Given the description of an element on the screen output the (x, y) to click on. 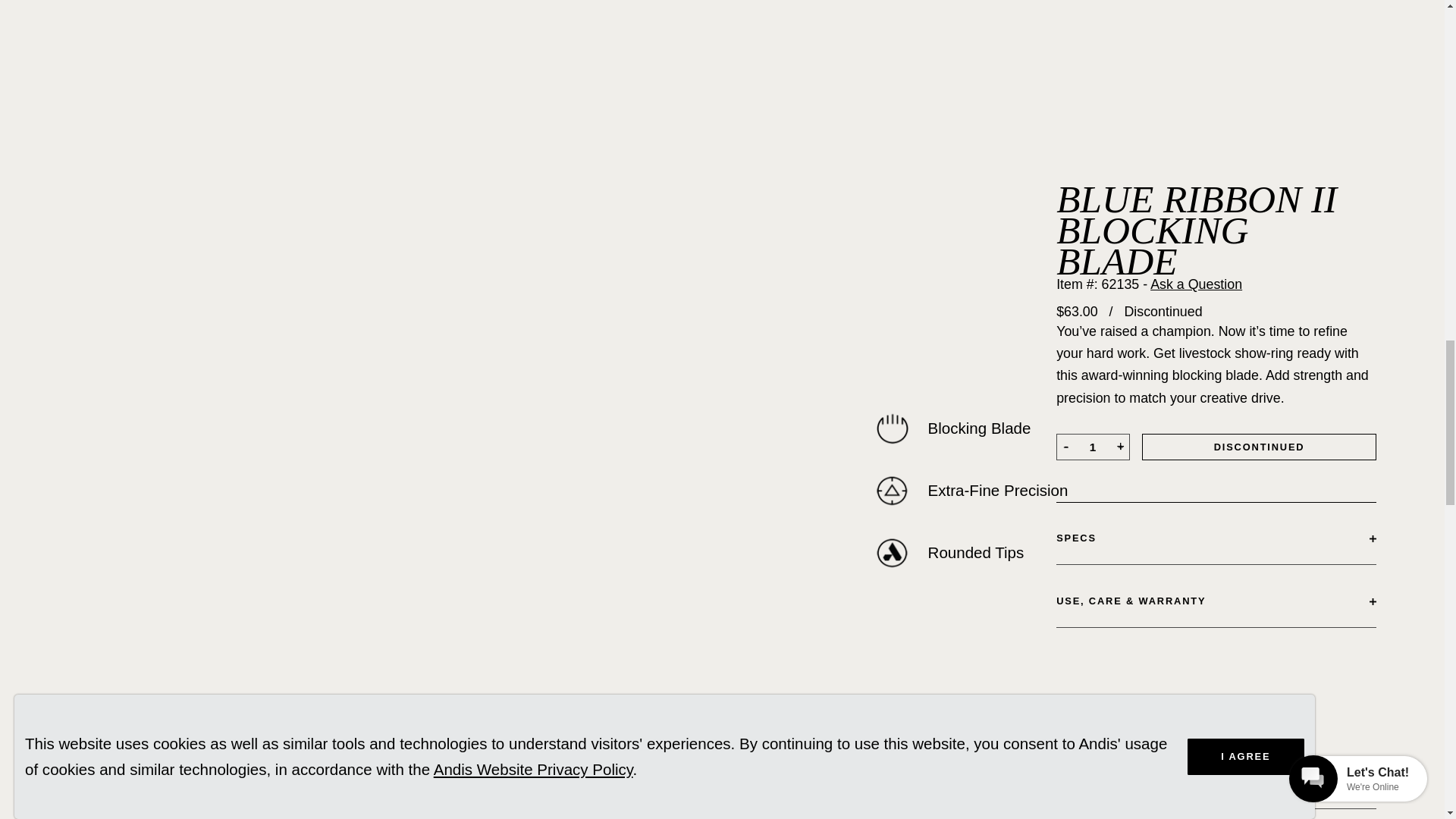
Next Level Features Rounded Tips (892, 552)
Next Level Features Blocking Blade (892, 428)
Next Level Features Extra-Fine Precision (892, 490)
